Given the description of an element on the screen output the (x, y) to click on. 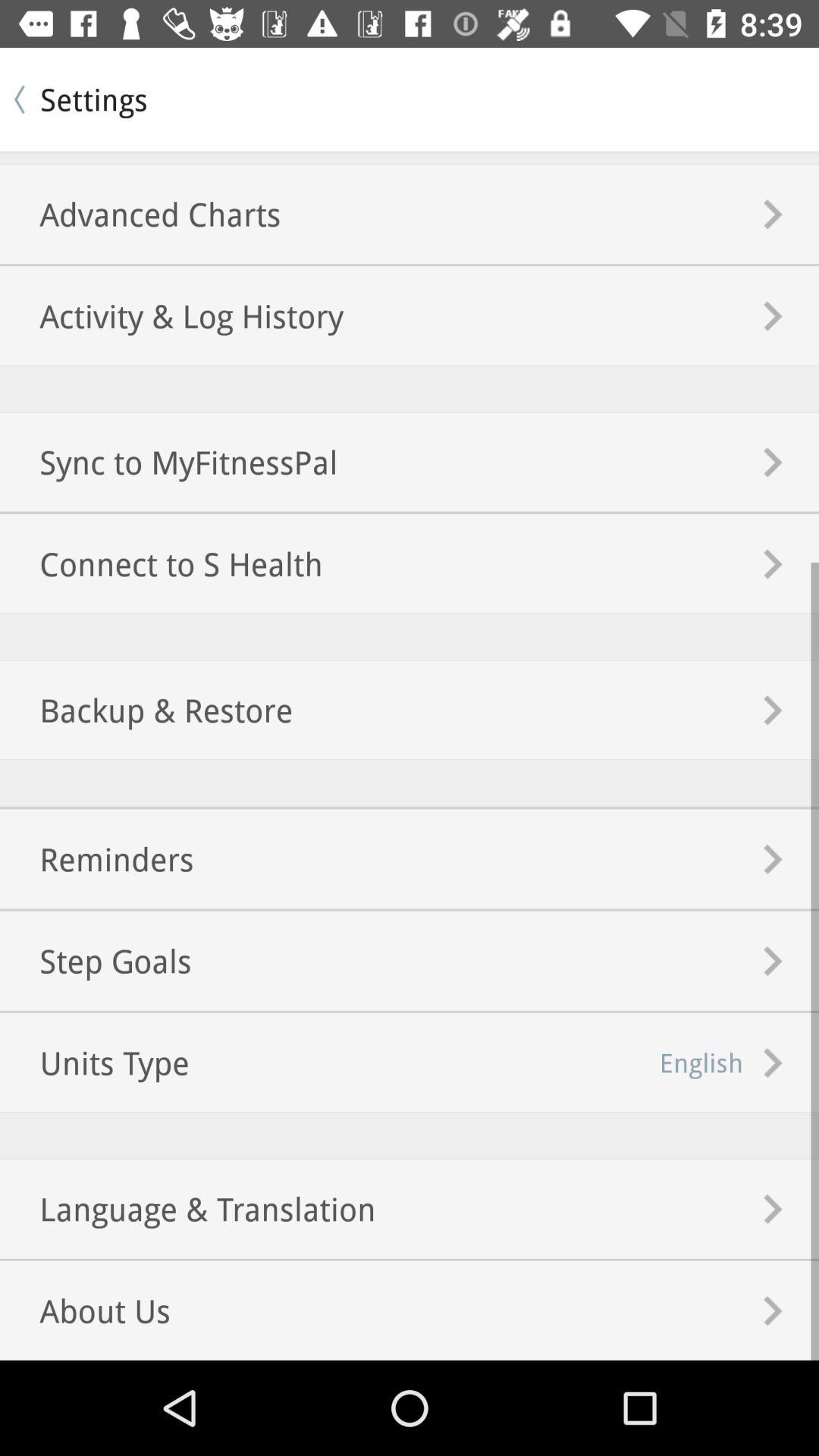
press the icon below the sync to myfitnesspal icon (161, 563)
